Given the description of an element on the screen output the (x, y) to click on. 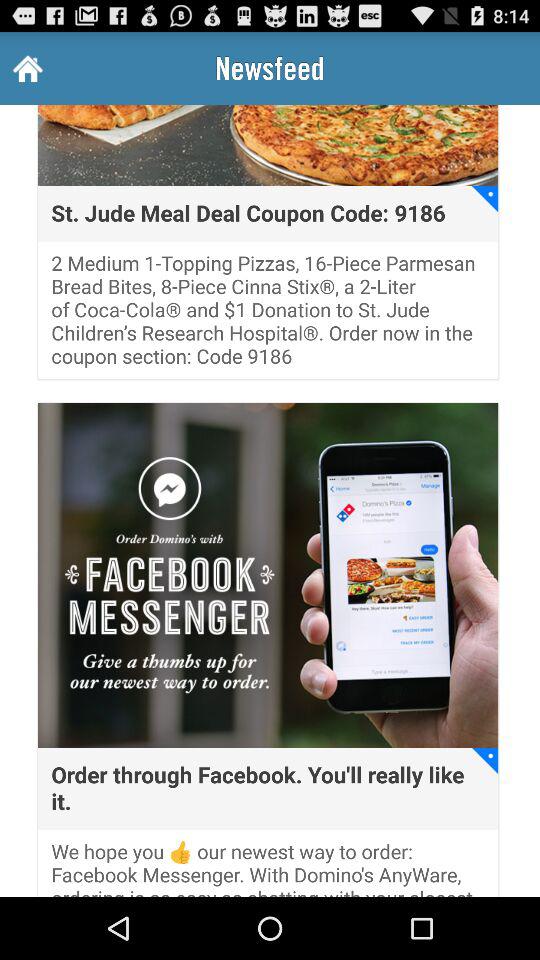
open icon above the we hope you (485, 760)
